Given the description of an element on the screen output the (x, y) to click on. 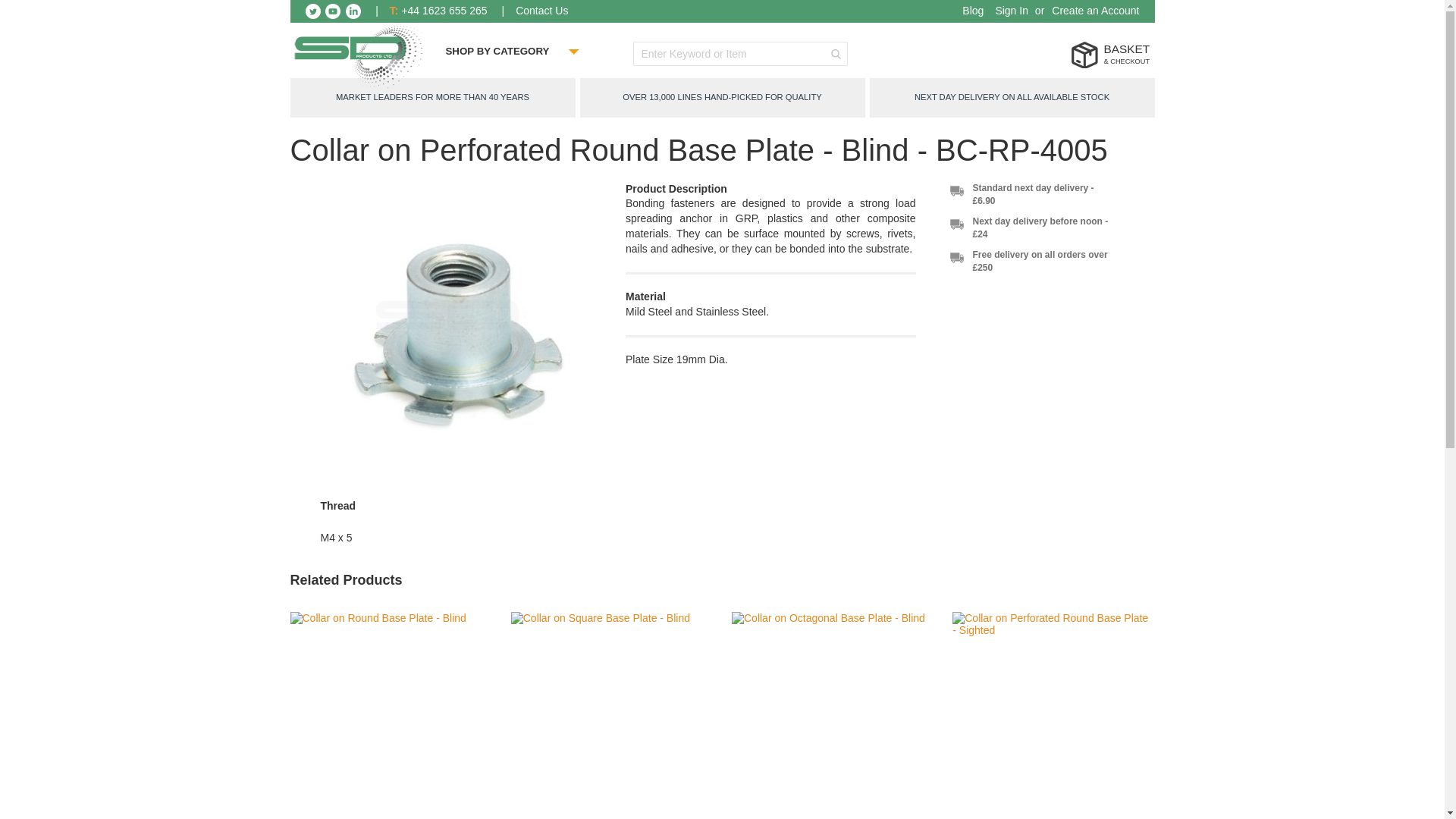
Blog (973, 11)
Contact Us (541, 10)
Sign In (1010, 11)
Create an Account (1094, 11)
